Given the description of an element on the screen output the (x, y) to click on. 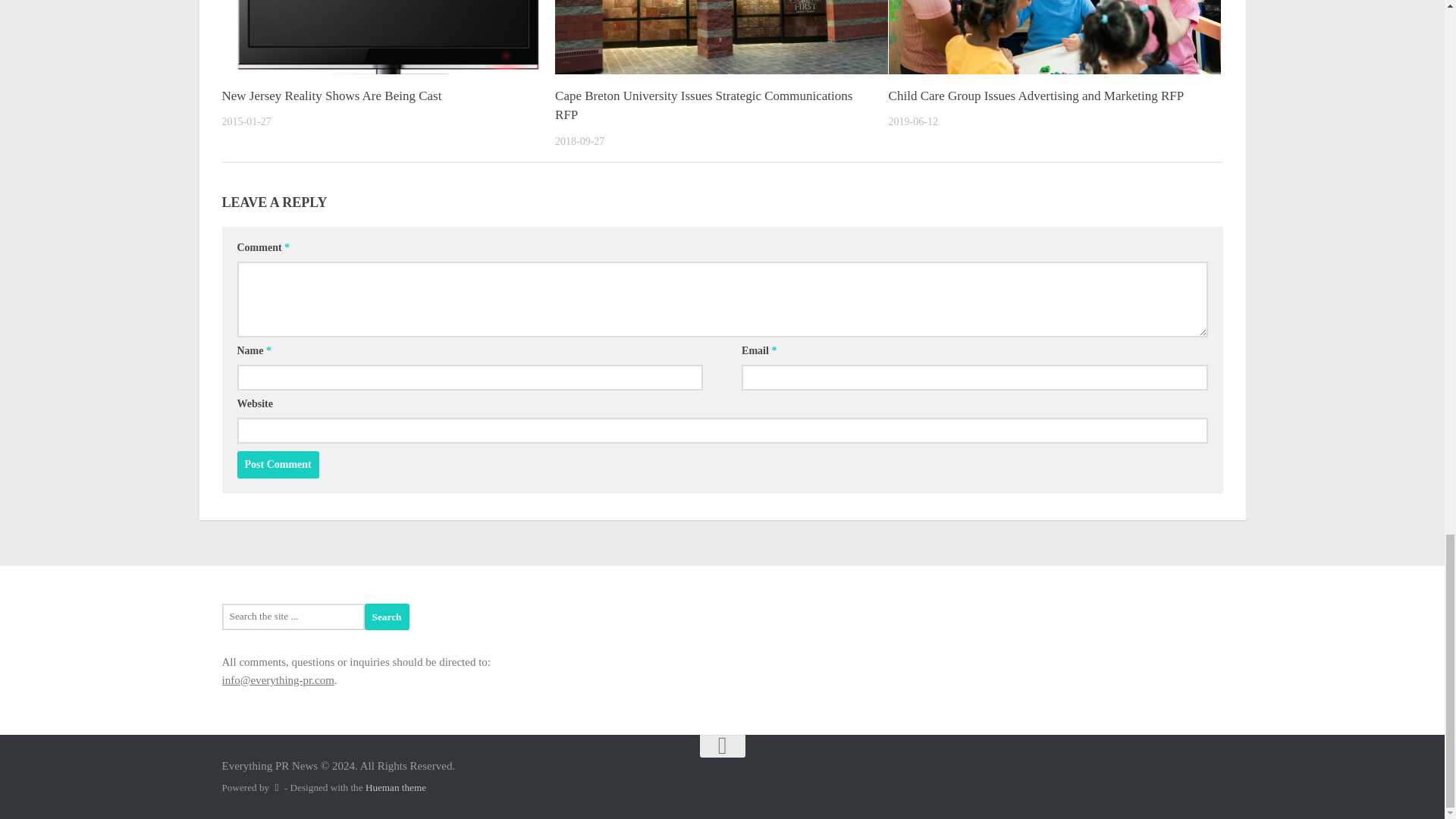
Powered by WordPress (275, 787)
Hueman theme (395, 787)
Post Comment (276, 464)
Search (386, 616)
